Given the description of an element on the screen output the (x, y) to click on. 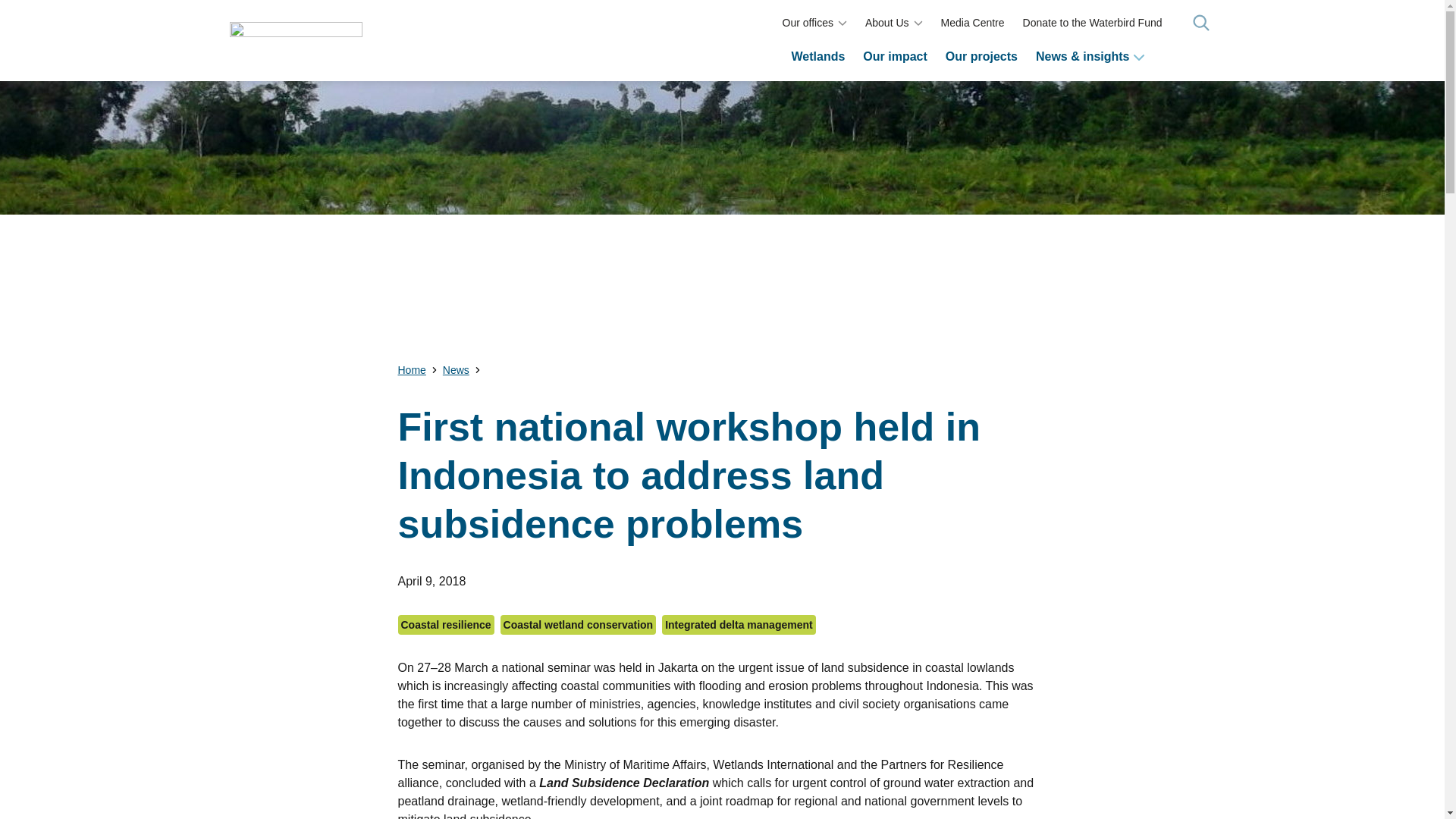
Our offices (807, 22)
Straight to content (24, 13)
About Us (886, 22)
Donate to the Waterbird Fund (1092, 22)
Media Centre (972, 22)
